Given the description of an element on the screen output the (x, y) to click on. 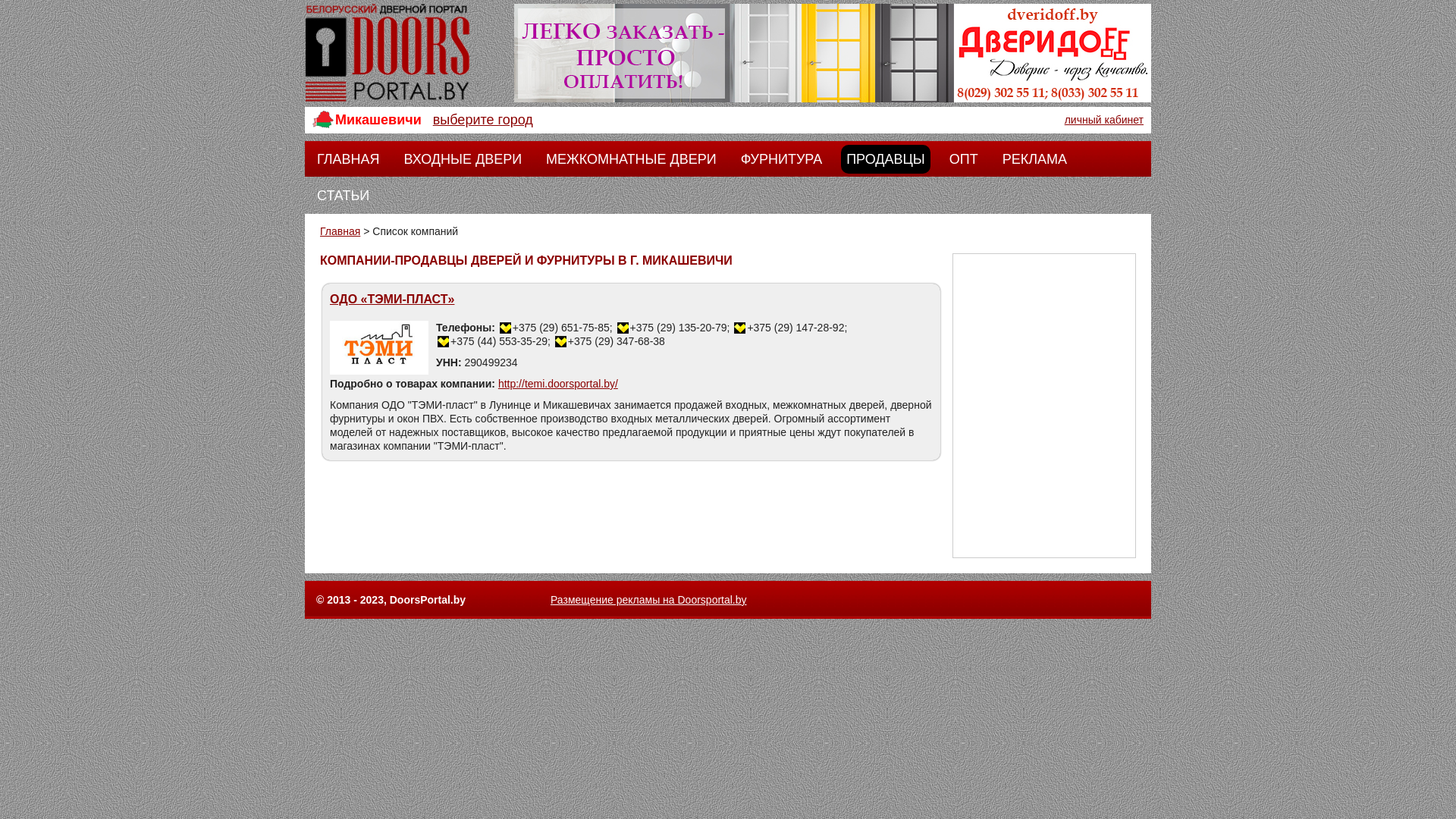
http://temi.doorsportal.by/ Element type: text (558, 383)
Advertisement Element type: hover (1043, 405)
